Given the description of an element on the screen output the (x, y) to click on. 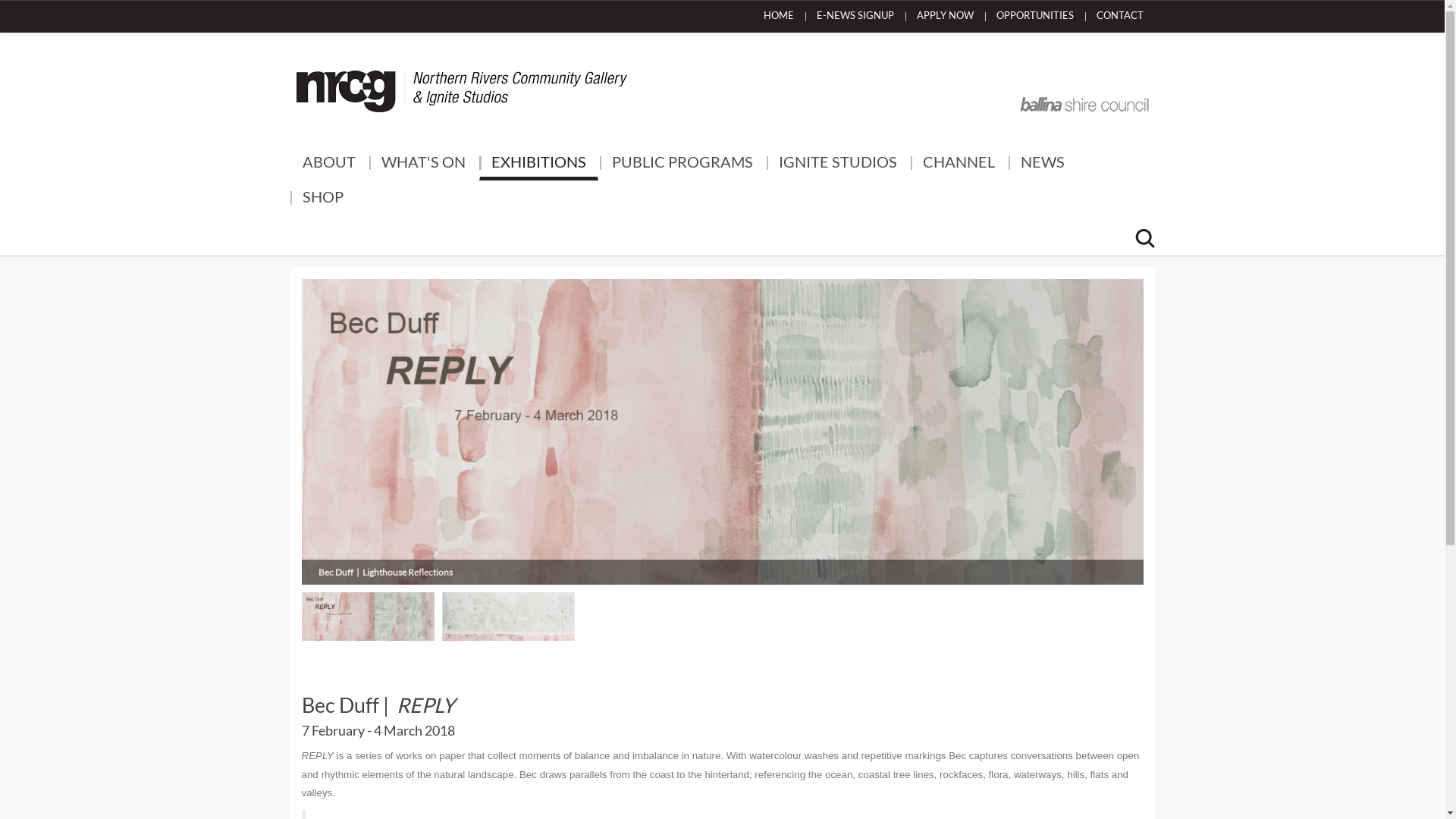
CHANNEL Element type: text (958, 162)
SHOP Element type: text (321, 197)
Next Element type: text (1079, 417)
IGNITE STUDIOS Element type: text (836, 162)
OPPORTUNITIES Element type: text (1034, 16)
PUBLIC PROGRAMS Element type: text (681, 162)
EXHIBITIONS Element type: text (538, 162)
E-NEWS SIGNUP Element type: text (855, 16)
ABOUT Element type: text (328, 162)
Previous Element type: text (364, 417)
CONTACT Element type: text (1119, 16)
HOME Element type: text (778, 16)
APPLY NOW Element type: text (945, 16)
NEWS Element type: text (1042, 162)
WHAT'S ON Element type: text (422, 162)
